Given the description of an element on the screen output the (x, y) to click on. 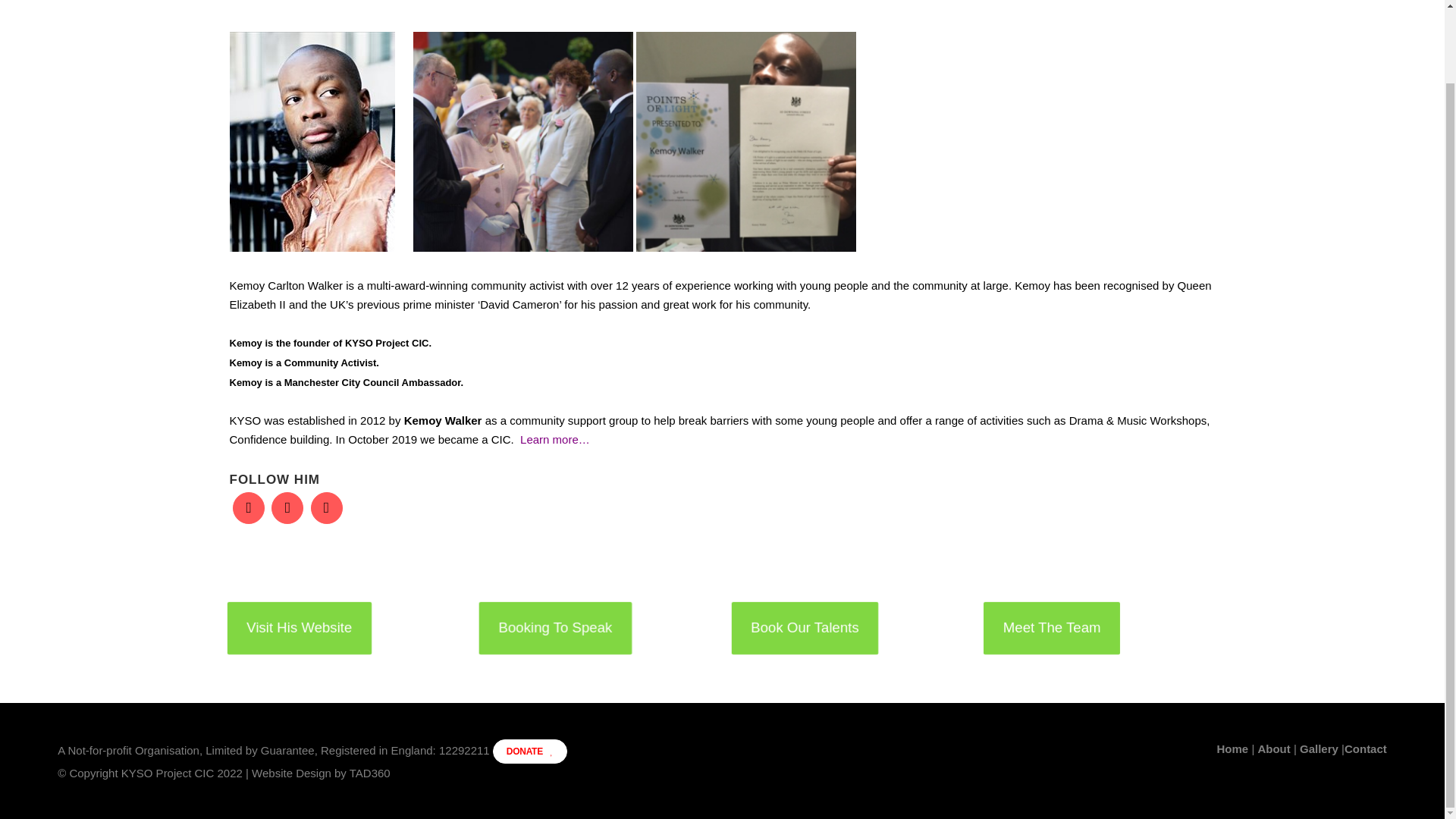
Meet The Team (1049, 626)
Gallery (1320, 748)
Website Design by TAD360 (320, 772)
DONATE (530, 751)
Visit His Website (296, 626)
Home (1234, 748)
About (1274, 748)
Book Our Talents (801, 626)
Contact (1365, 748)
Booking To Speak (553, 626)
